Given the description of an element on the screen output the (x, y) to click on. 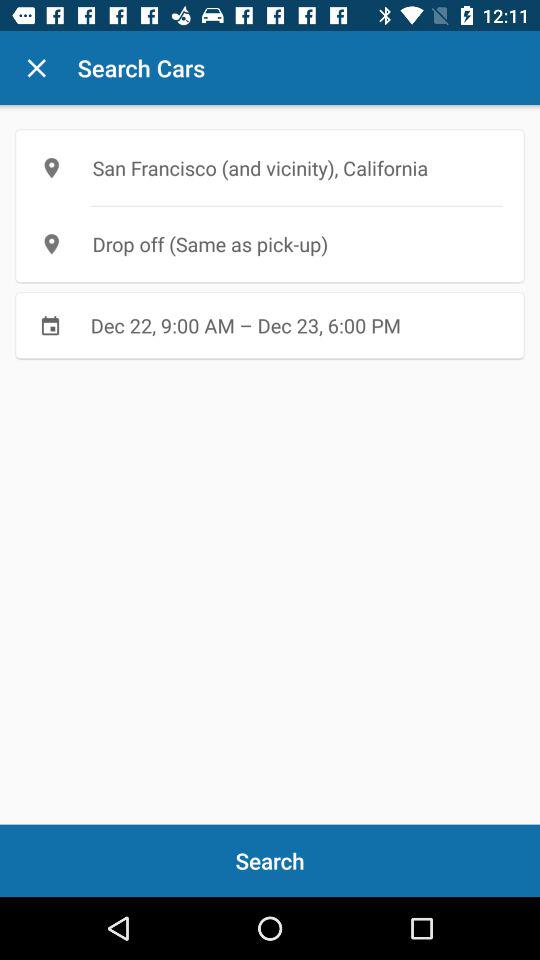
flip to the drop off same (269, 244)
